Given the description of an element on the screen output the (x, y) to click on. 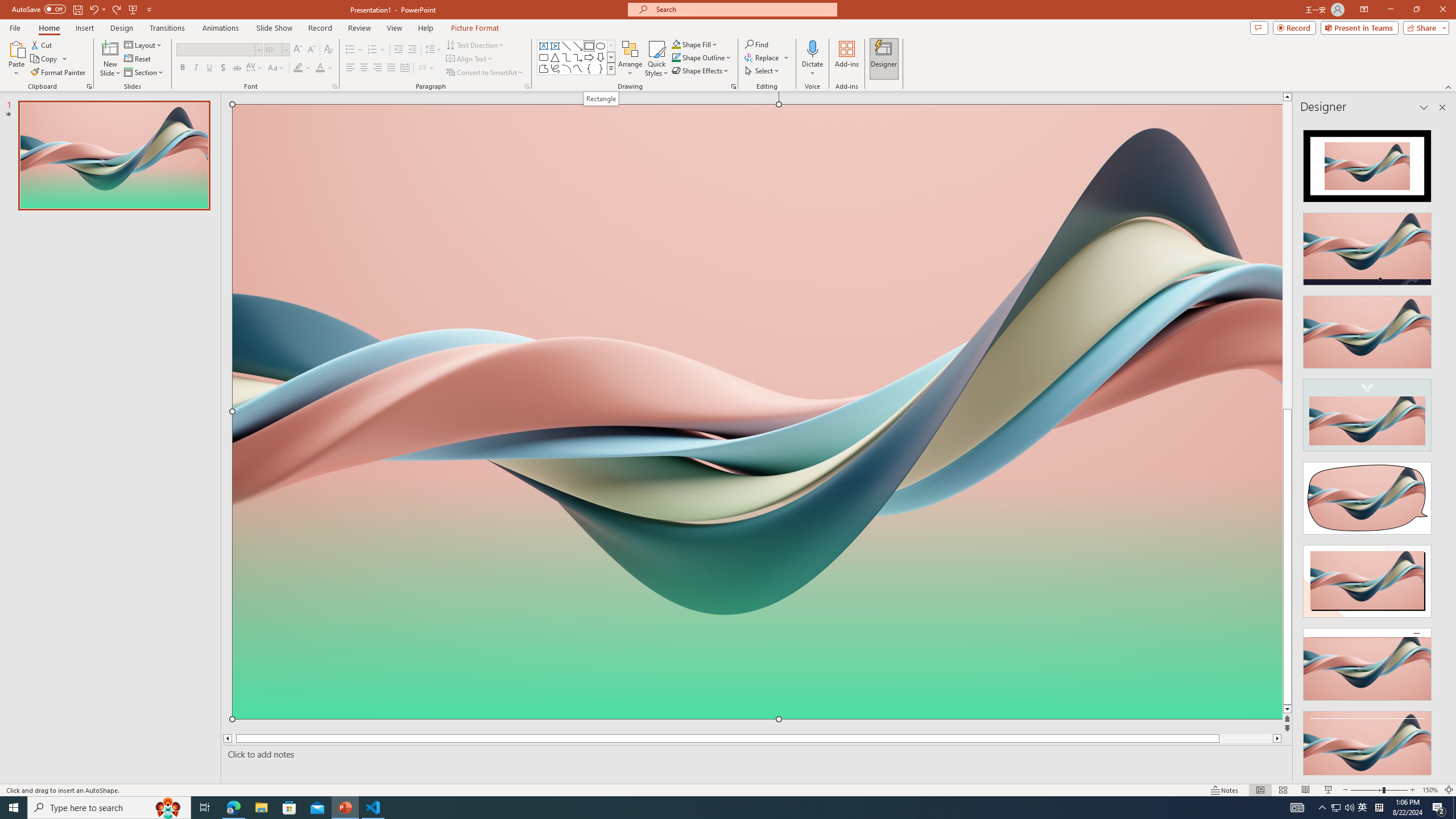
Wavy 3D art (757, 411)
